Given the description of an element on the screen output the (x, y) to click on. 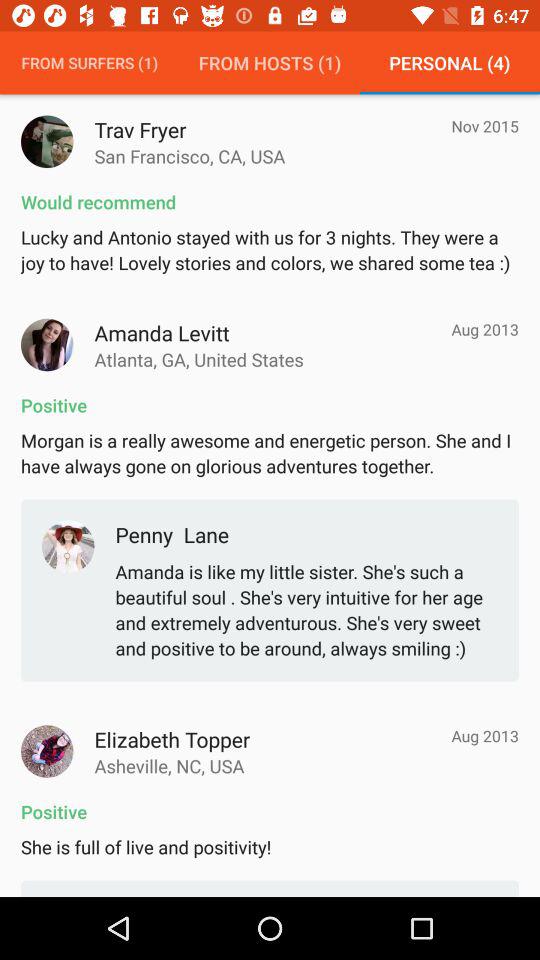
go to a persons profile (47, 751)
